Given the description of an element on the screen output the (x, y) to click on. 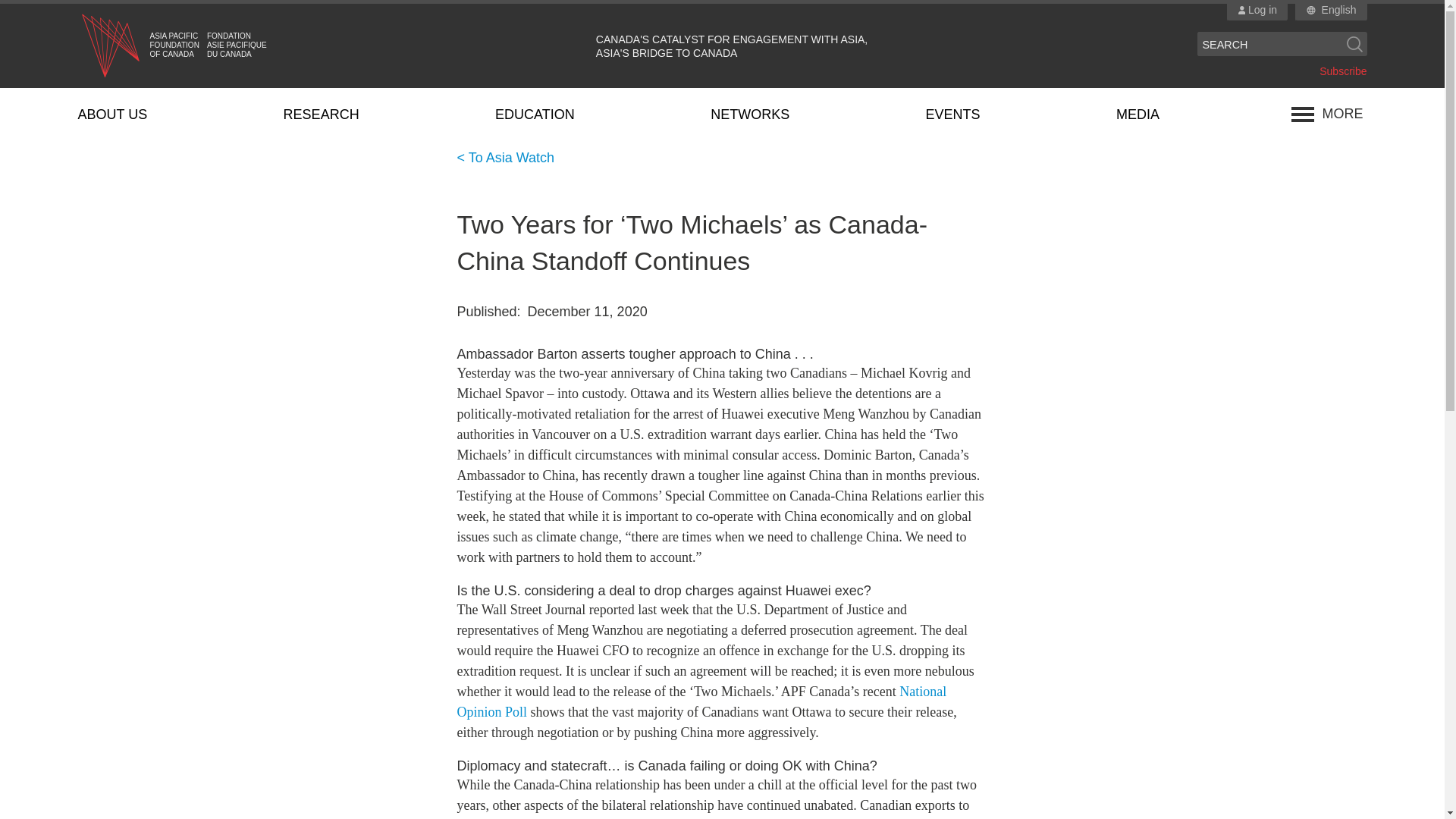
SEARCH (1269, 43)
Search (1353, 44)
Log in (1257, 10)
Subscribe (1343, 70)
English (1339, 10)
Search (1353, 44)
